Given the description of an element on the screen output the (x, y) to click on. 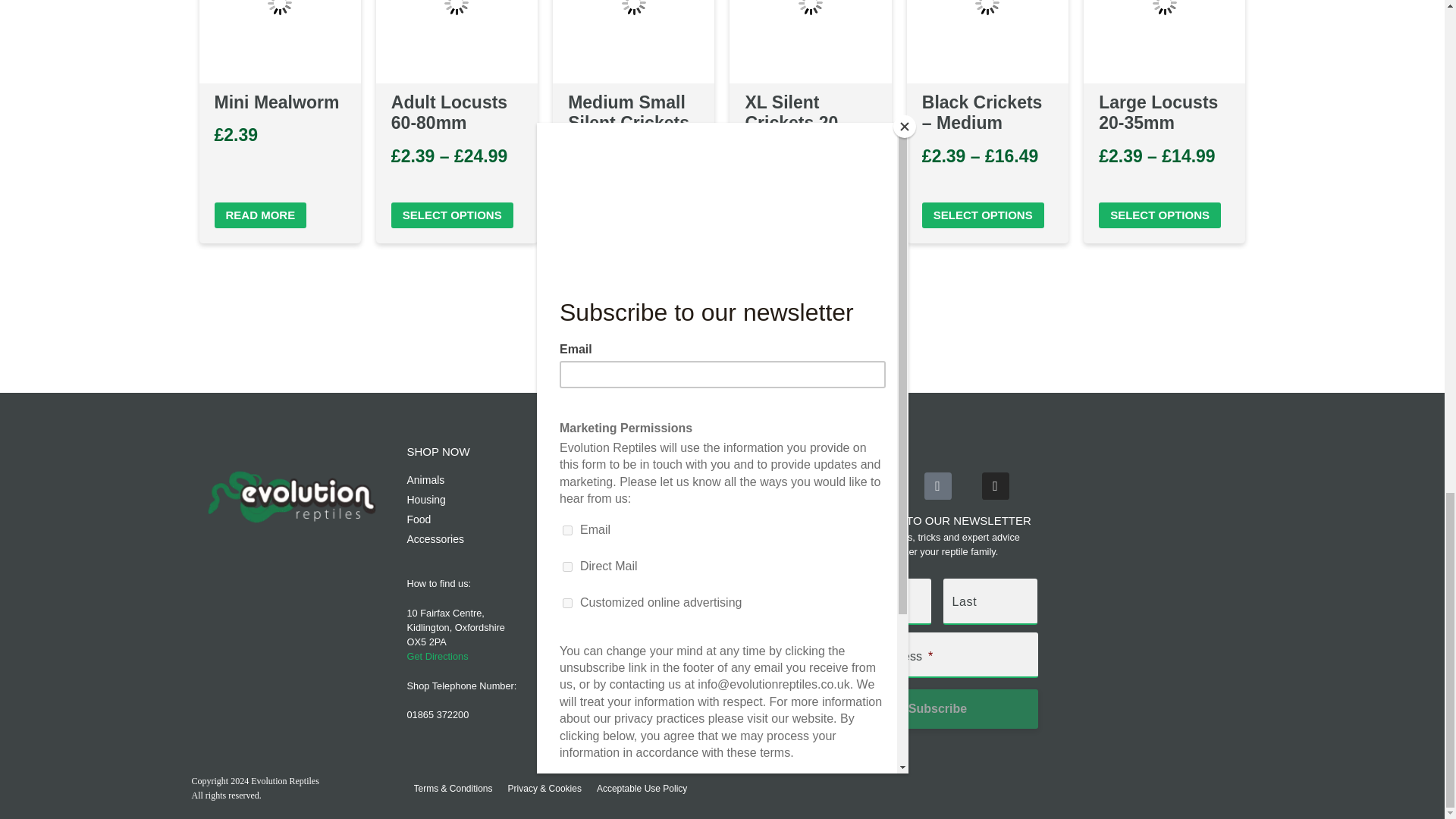
Subscribe (936, 708)
